Given the description of an element on the screen output the (x, y) to click on. 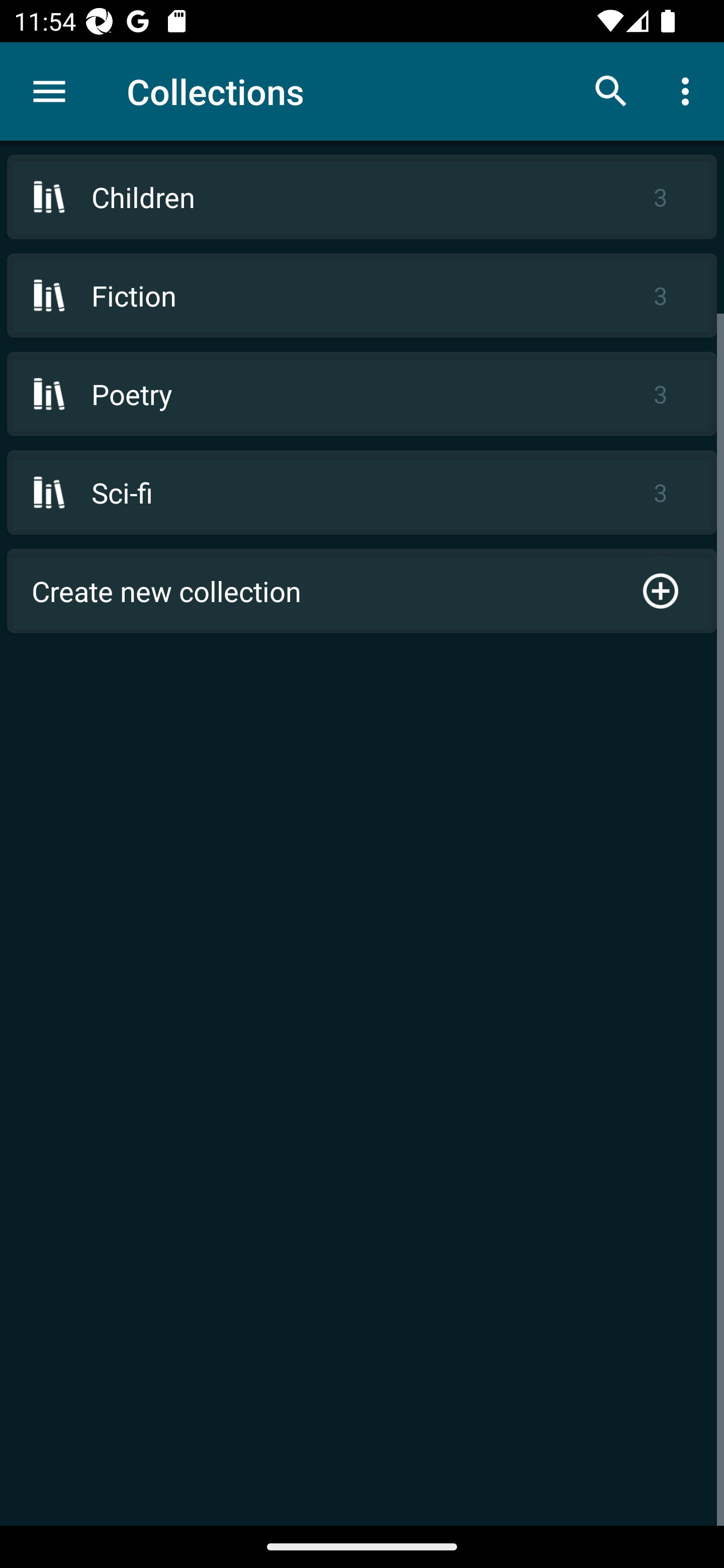
Menu (49, 91)
Search books & documents (611, 90)
More options (688, 90)
Children 3 (361, 197)
Fiction 3 (361, 295)
Poetry 3 (361, 393)
Sci-fi 3 (361, 492)
Create new collection (361, 590)
